Given the description of an element on the screen output the (x, y) to click on. 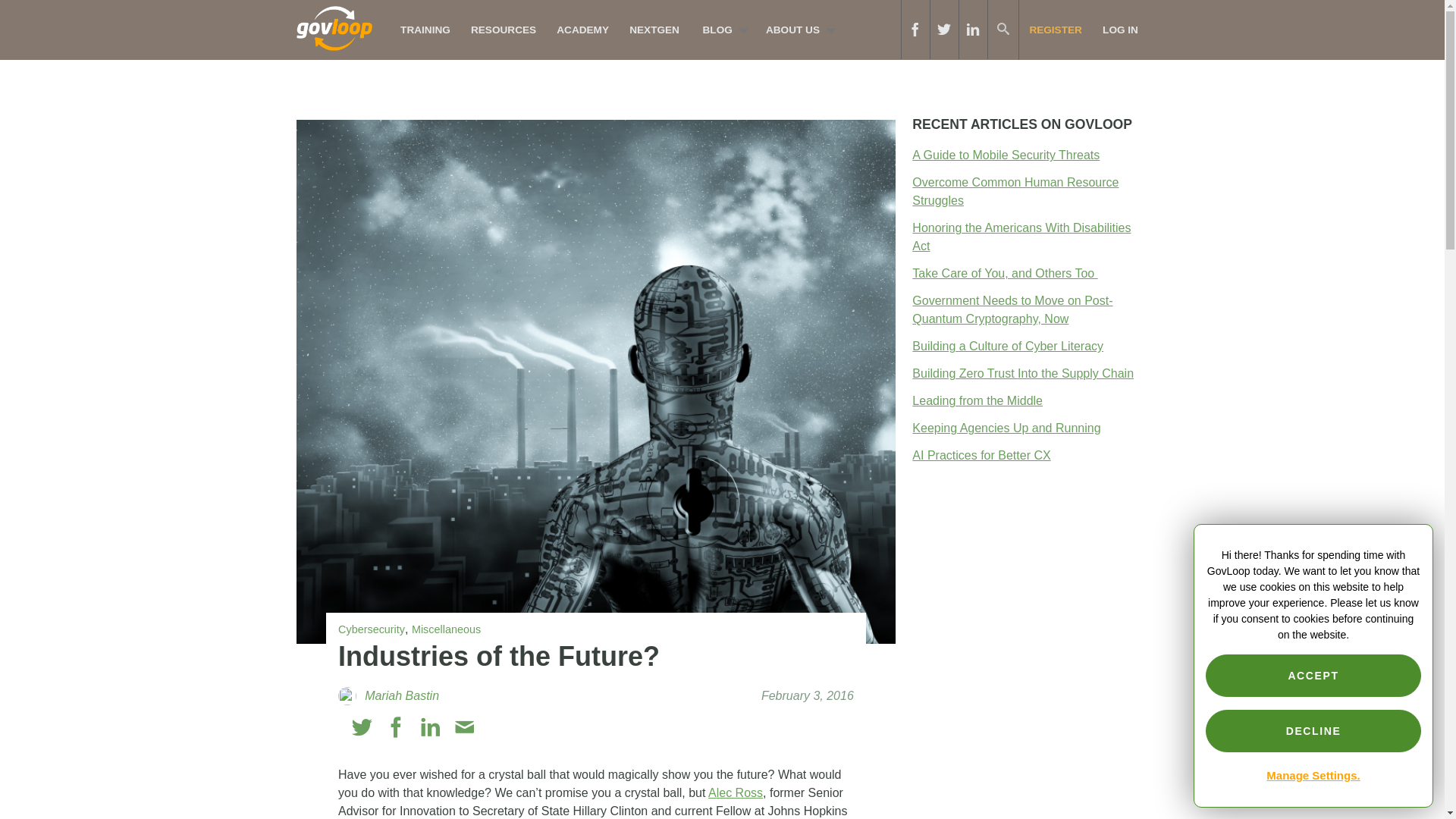
REGISTER (1056, 29)
Print (497, 727)
NEXTGEN (655, 29)
Facebook (395, 727)
ABOUT US (796, 29)
Linkedin (430, 727)
RESOURCES (503, 29)
ACADEMY (583, 29)
Cybersecurity (370, 629)
Email (464, 727)
LOG IN (1120, 29)
TRAINING (425, 29)
BLOG (721, 29)
Twitter (362, 727)
